Given the description of an element on the screen output the (x, y) to click on. 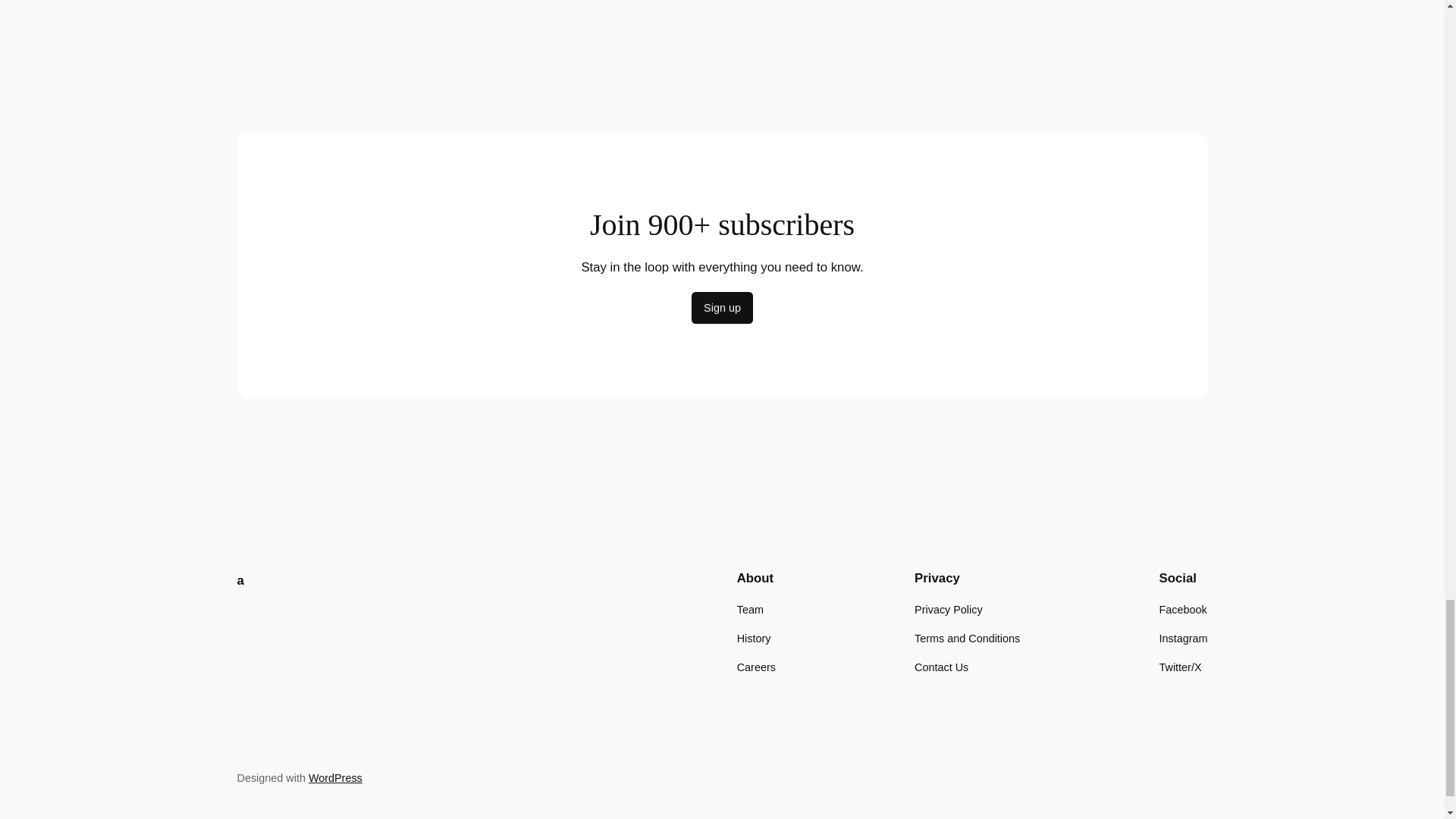
Team (749, 609)
Instagram (1182, 638)
Facebook (1182, 609)
WordPress (335, 777)
History (753, 638)
Contact Us (941, 667)
Careers (756, 667)
Privacy Policy (948, 609)
Terms and Conditions (967, 638)
Sign up (721, 307)
